Given the description of an element on the screen output the (x, y) to click on. 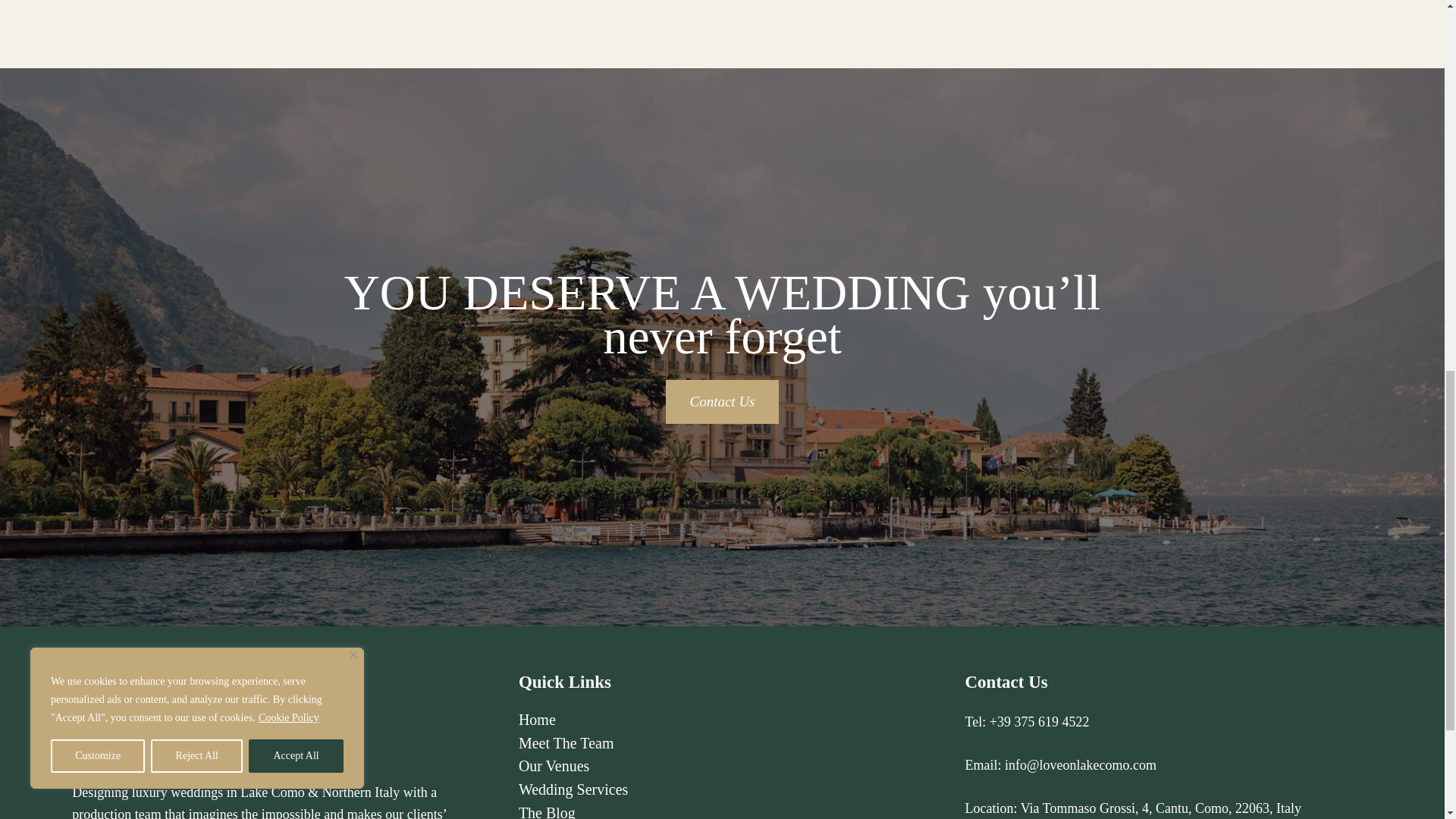
Love On Lake Como Icon (128, 713)
